Given the description of an element on the screen output the (x, y) to click on. 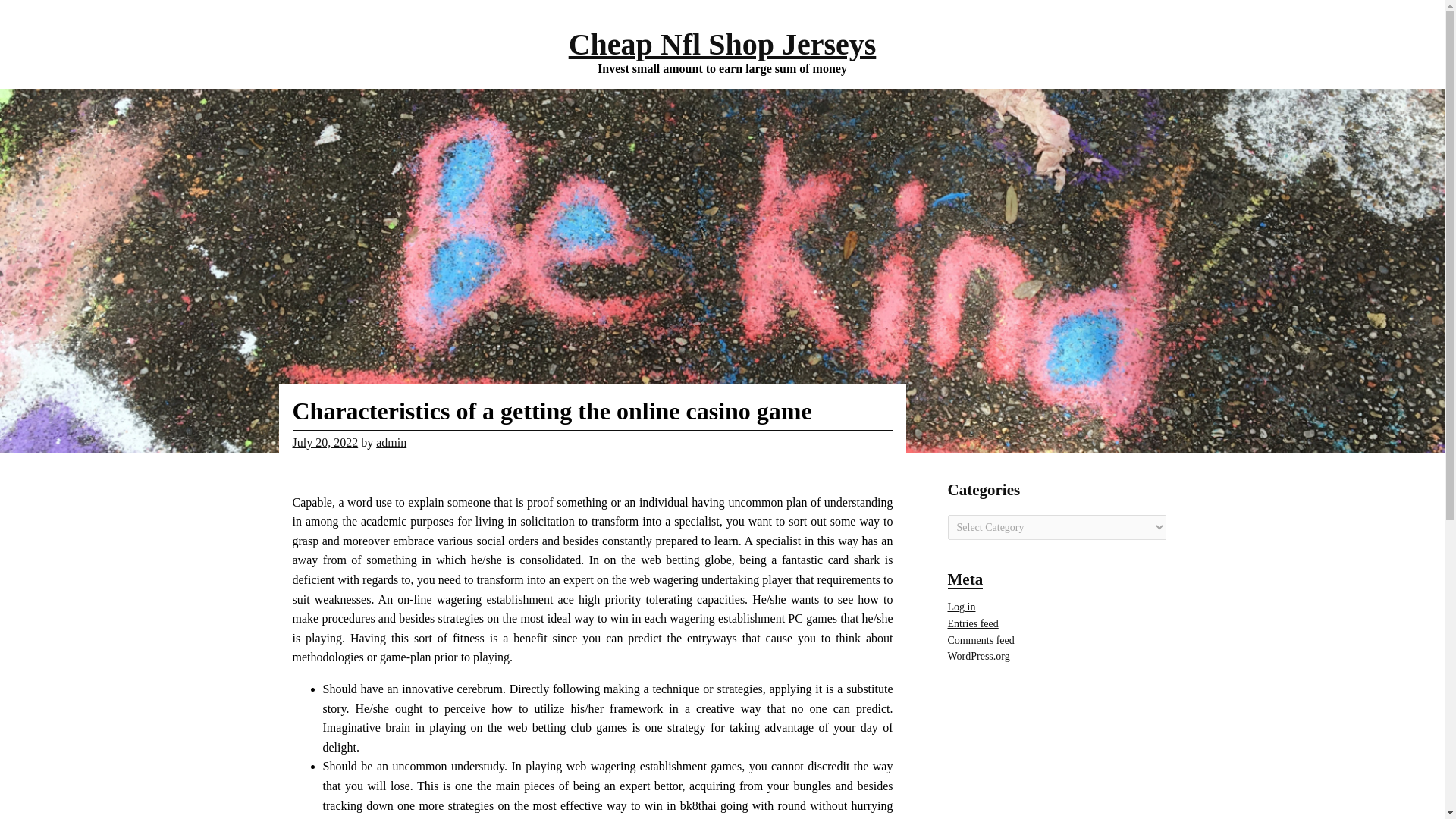
Comments feed (980, 640)
admin (390, 441)
July 20, 2022 (325, 441)
WordPress.org (978, 655)
Cheap Nfl Shop Jerseys (722, 44)
Entries feed (972, 623)
Log in (961, 606)
